Given the description of an element on the screen output the (x, y) to click on. 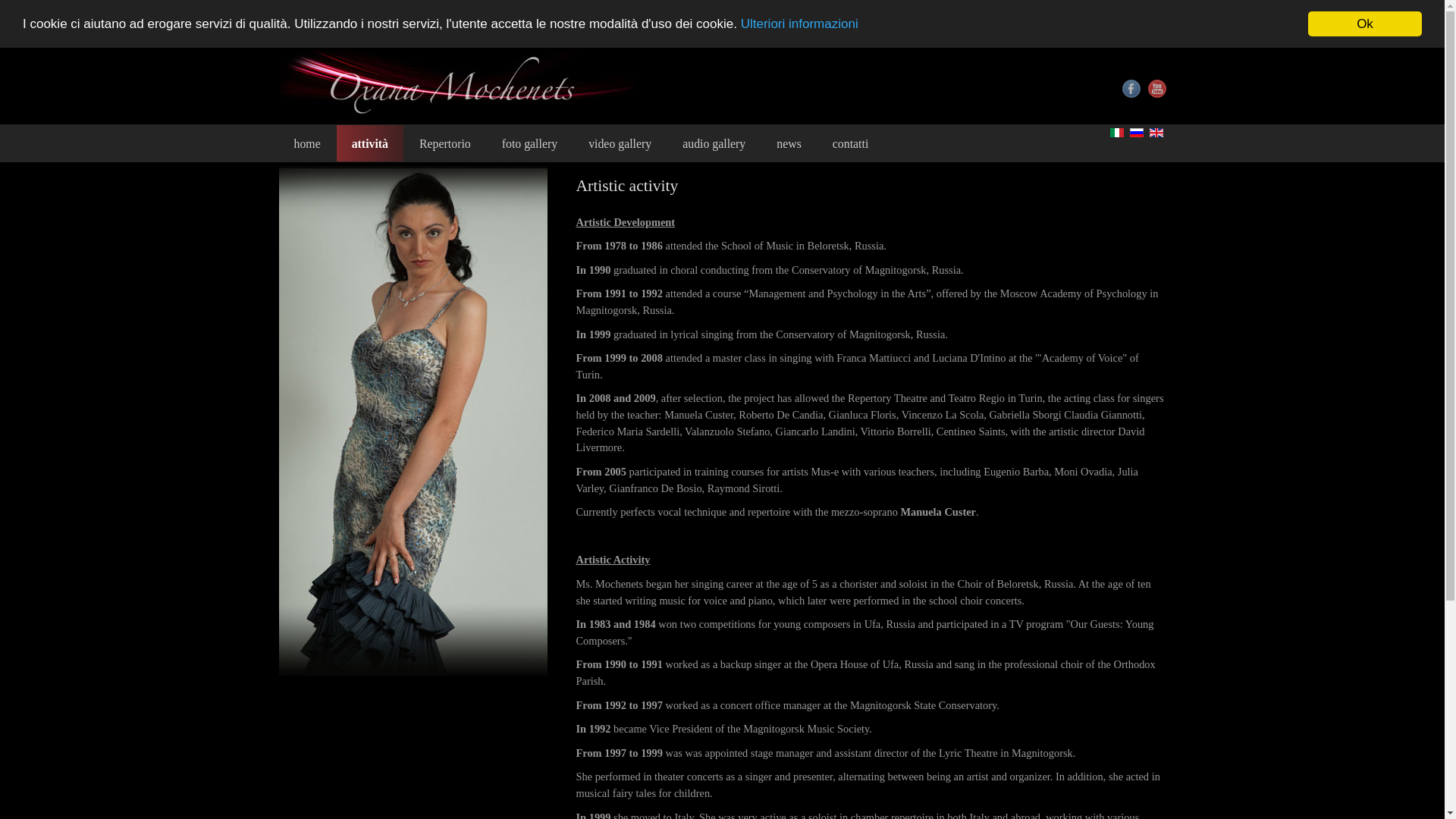
home (307, 140)
Italiano (1116, 132)
video gallery (619, 143)
YouTube (1157, 88)
contatti (849, 143)
Facebook (1131, 81)
audio gallery (713, 143)
Facebook (1131, 88)
foto gallery (529, 143)
YouTube (1157, 85)
